Given the description of an element on the screen output the (x, y) to click on. 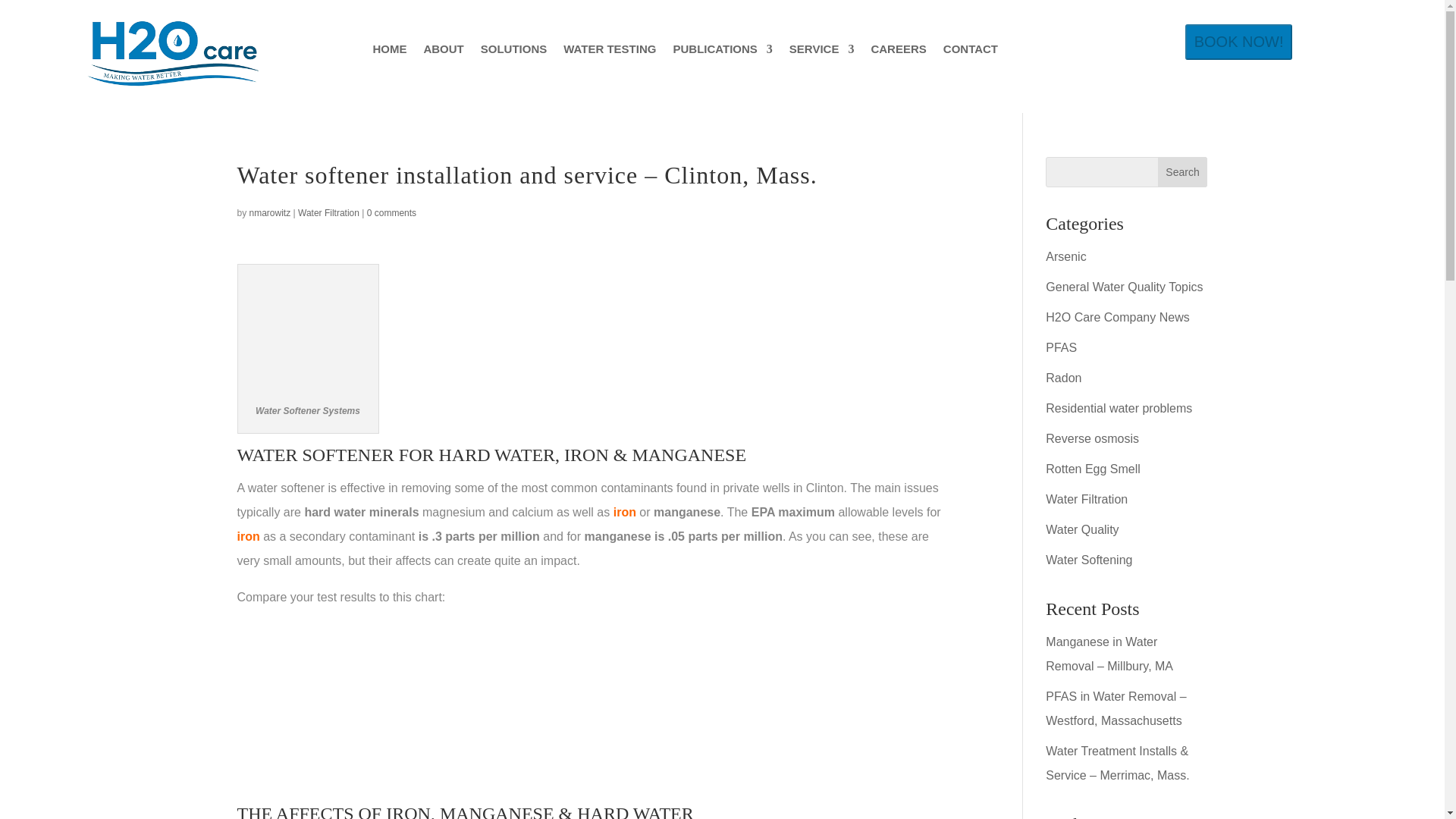
CAREERS (898, 52)
WATER TESTING (609, 52)
PUBLICATIONS (721, 52)
Radon (1063, 377)
H2O Care Company News (1117, 317)
Water Filtration (328, 213)
0 comments (391, 213)
SERVICE (821, 52)
HOME (389, 52)
CONTACT (970, 52)
Reverse osmosis (1091, 438)
Residential water problems (1118, 408)
Posts by nmarowitz (269, 213)
BOOK NOW! (1238, 41)
SOLUTIONS (513, 52)
